Given the description of an element on the screen output the (x, y) to click on. 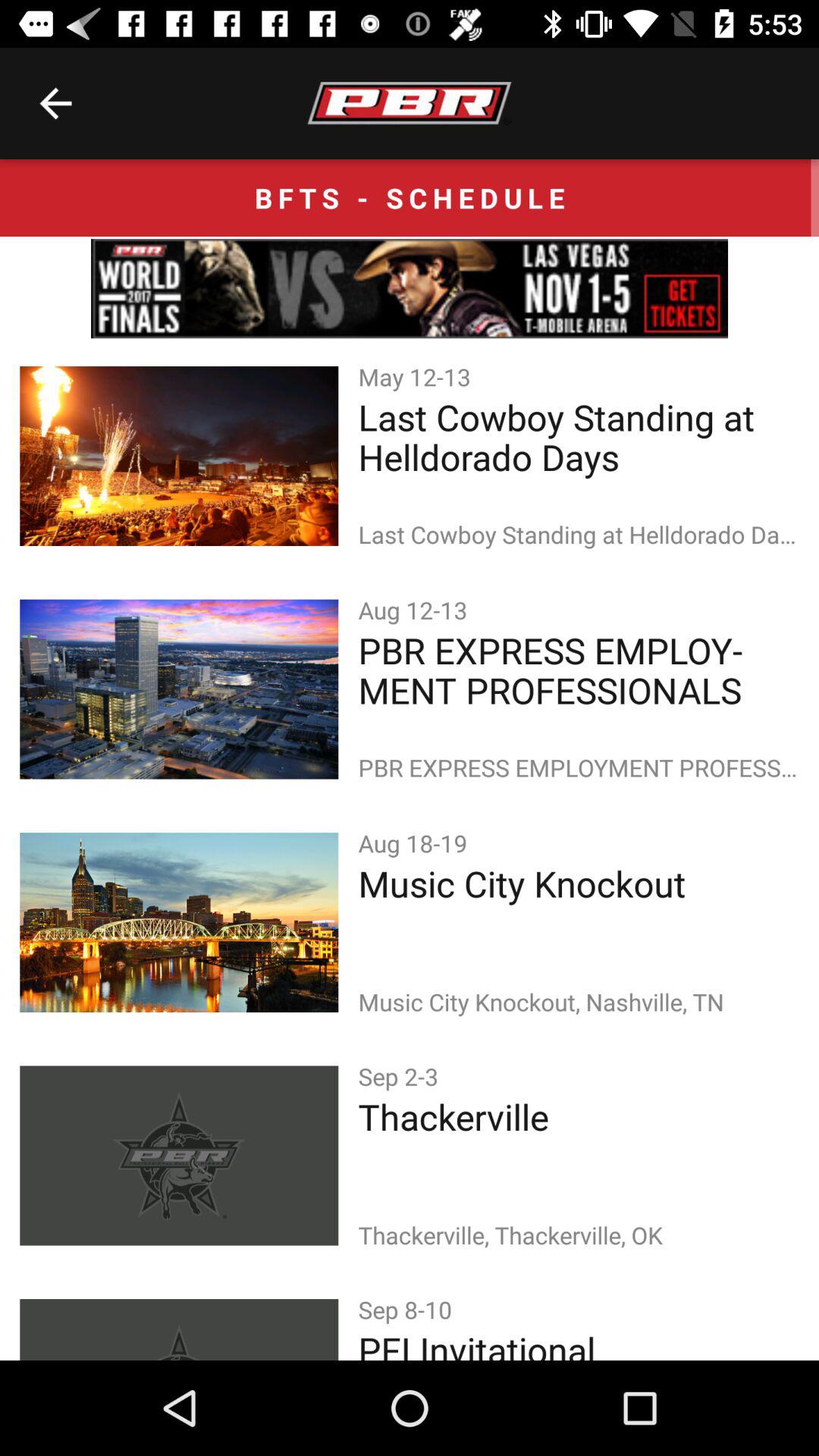
swipe until the sep 2-3 icon (401, 1076)
